Given the description of an element on the screen output the (x, y) to click on. 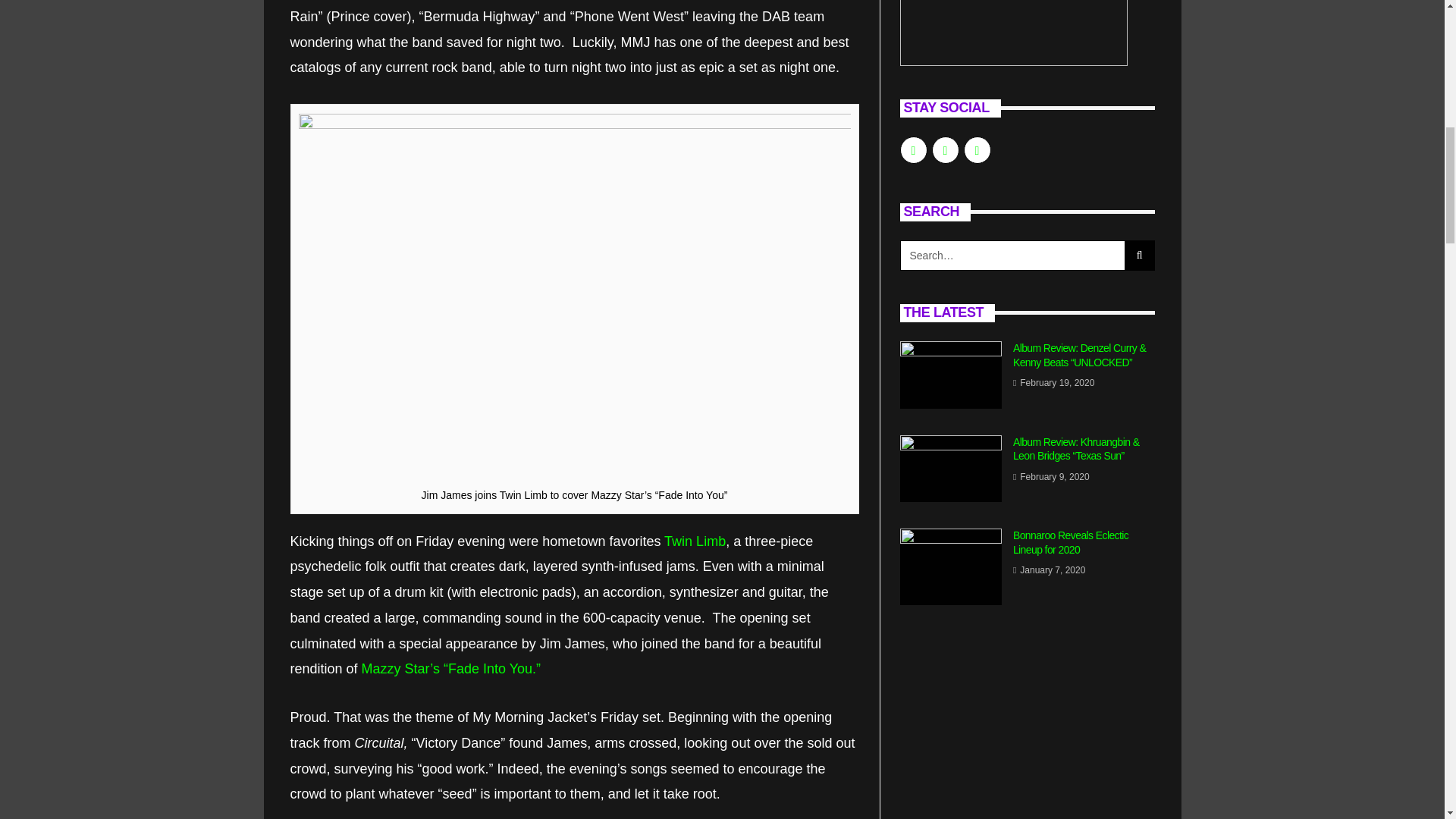
Search for: (1011, 255)
Bonnaroo Reveals Eclectic Lineup for 2020 (950, 566)
Advertisement (1026, 733)
Twin Limb (694, 540)
